Given the description of an element on the screen output the (x, y) to click on. 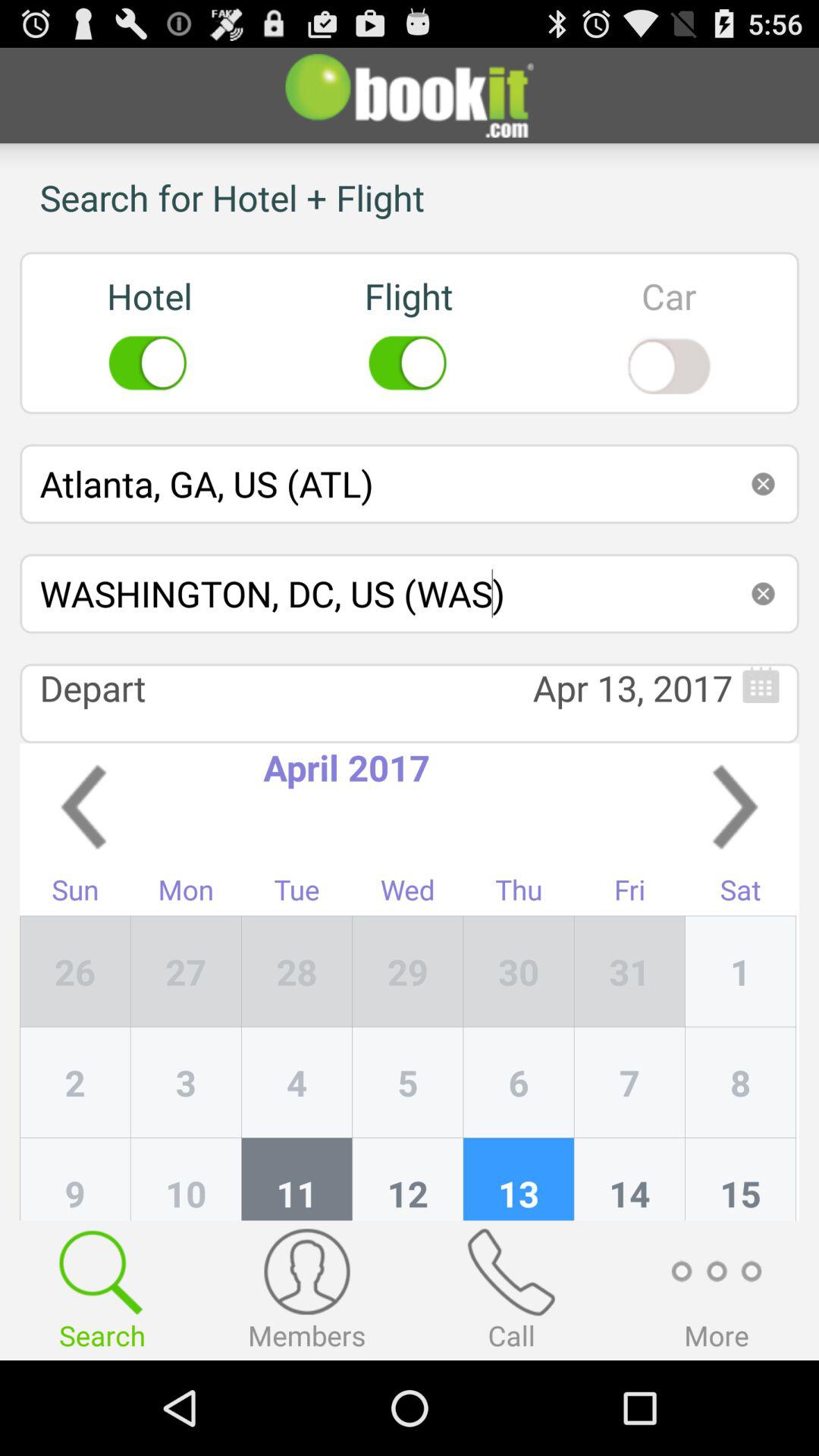
flip to sat icon (740, 893)
